Given the description of an element on the screen output the (x, y) to click on. 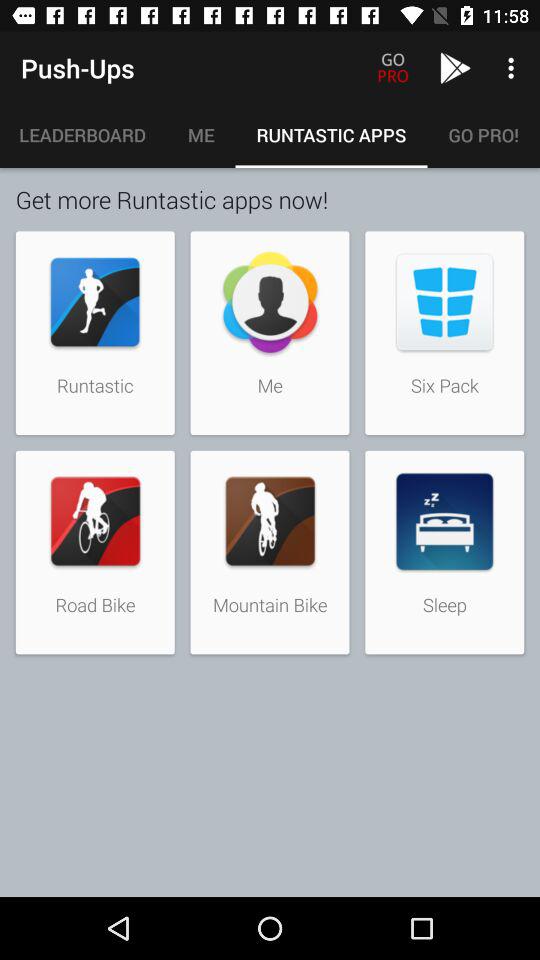
click the icon next to the me (83, 135)
